Given the description of an element on the screen output the (x, y) to click on. 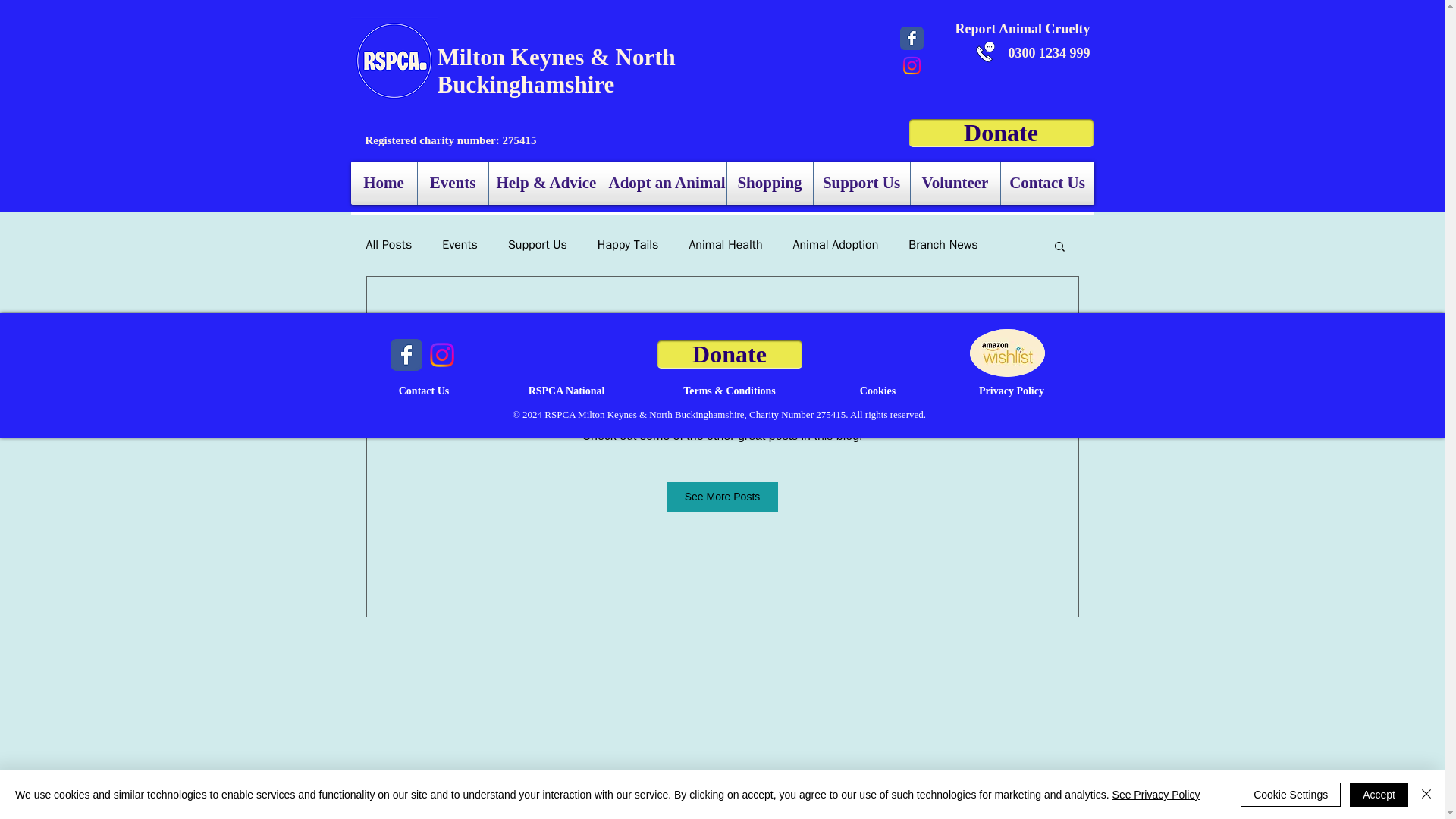
Adopt an Animal (662, 182)
Shopping (769, 182)
Donate (1000, 132)
Home (383, 182)
Support Us (860, 182)
Events (451, 182)
